Given the description of an element on the screen output the (x, y) to click on. 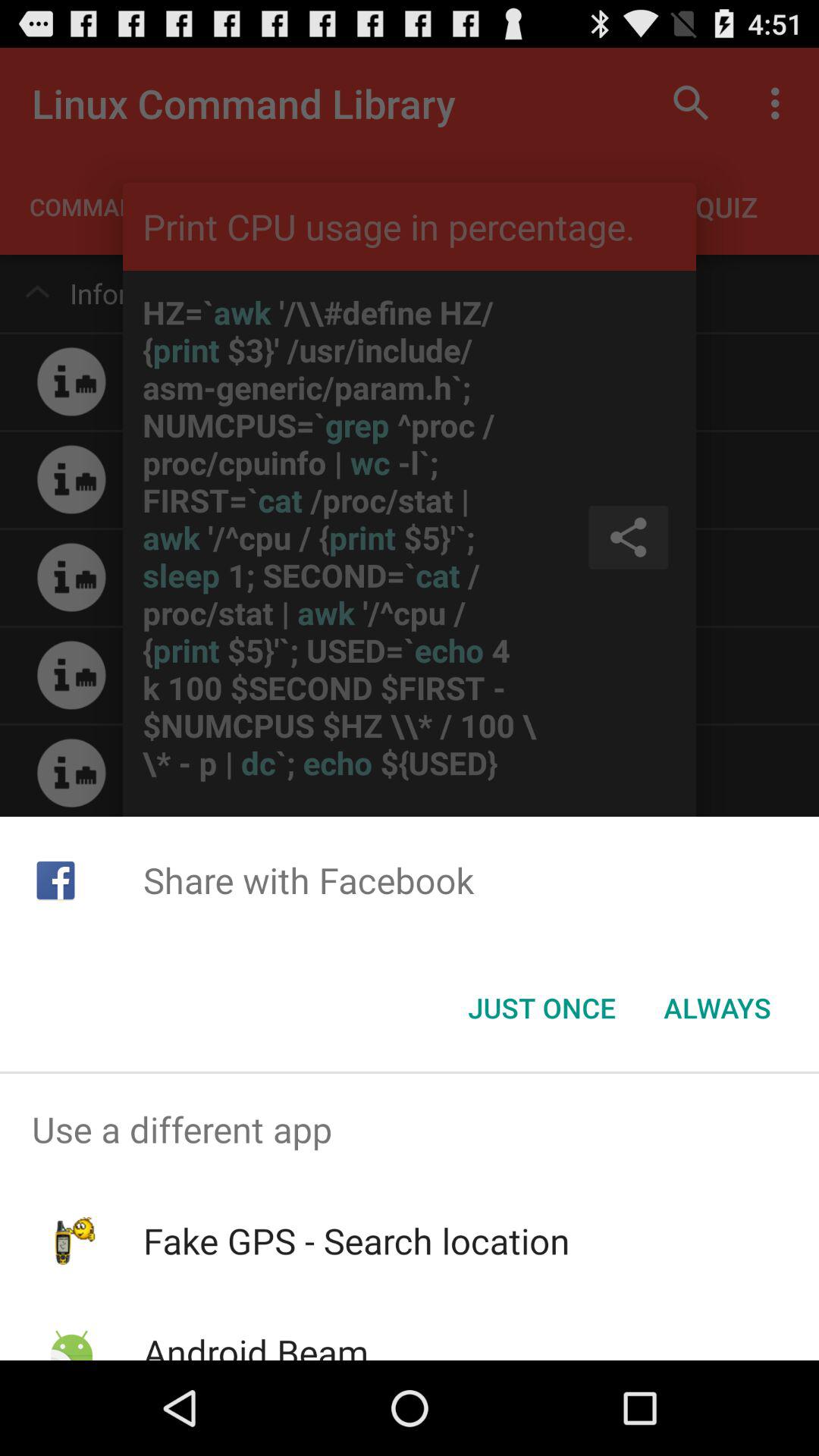
click icon to the right of just once button (717, 1007)
